Given the description of an element on the screen output the (x, y) to click on. 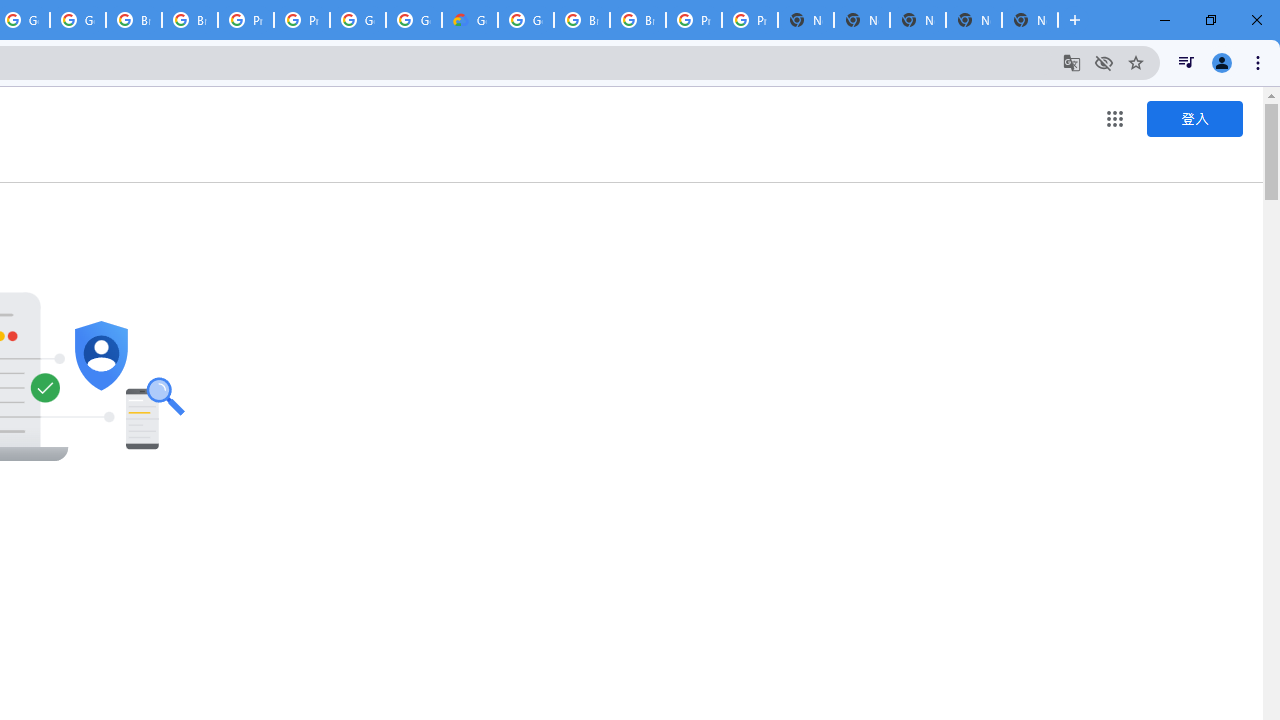
Google Cloud Estimate Summary (469, 20)
Browse Chrome as a guest - Computer - Google Chrome Help (637, 20)
New Tab (1030, 20)
Translate this page (1071, 62)
Google Cloud Platform (358, 20)
Third-party cookies blocked (1103, 62)
Control your music, videos, and more (1185, 62)
